Given the description of an element on the screen output the (x, y) to click on. 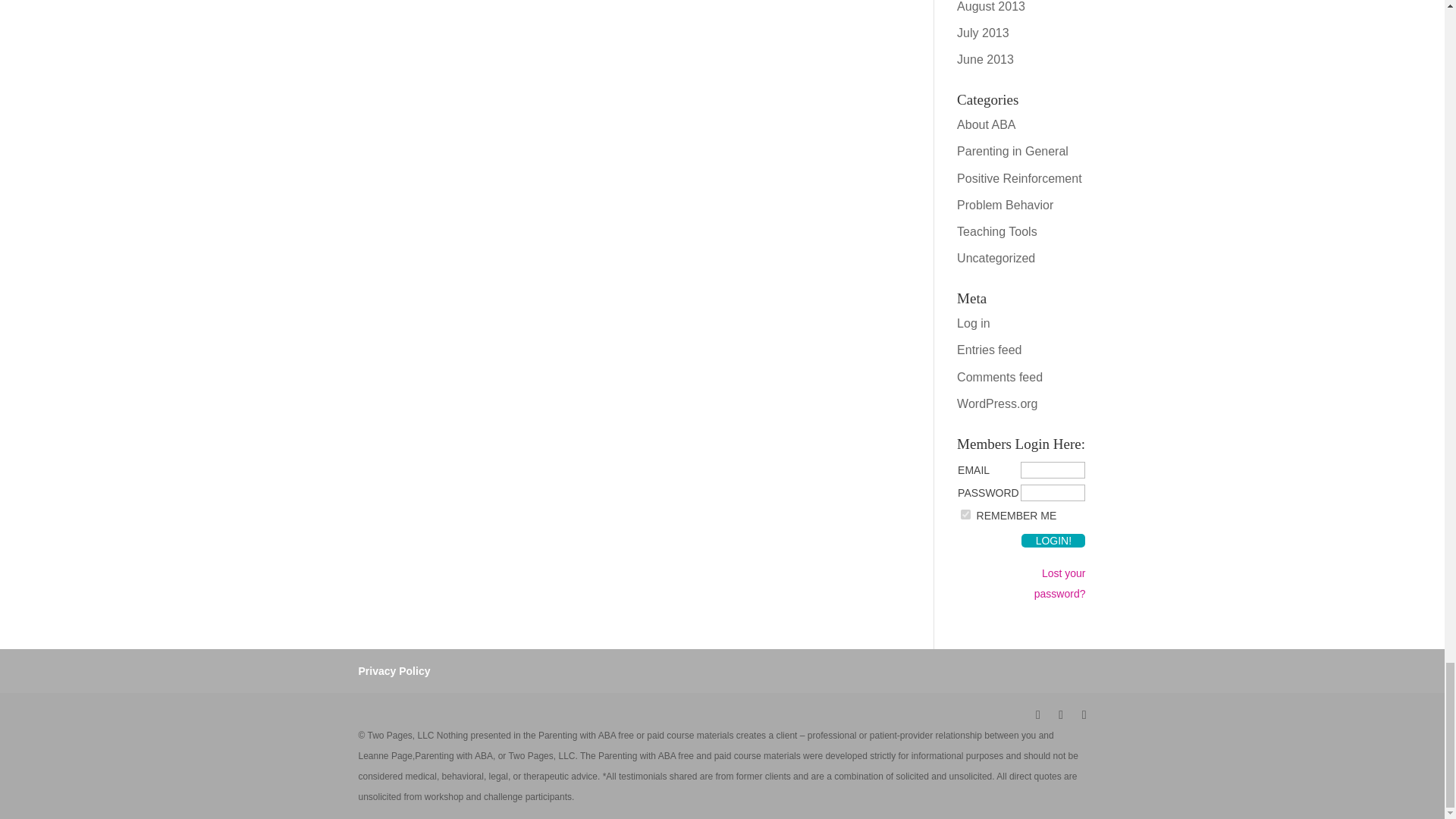
Login! (1053, 540)
forever (965, 514)
Lost Password (1053, 578)
